Given the description of an element on the screen output the (x, y) to click on. 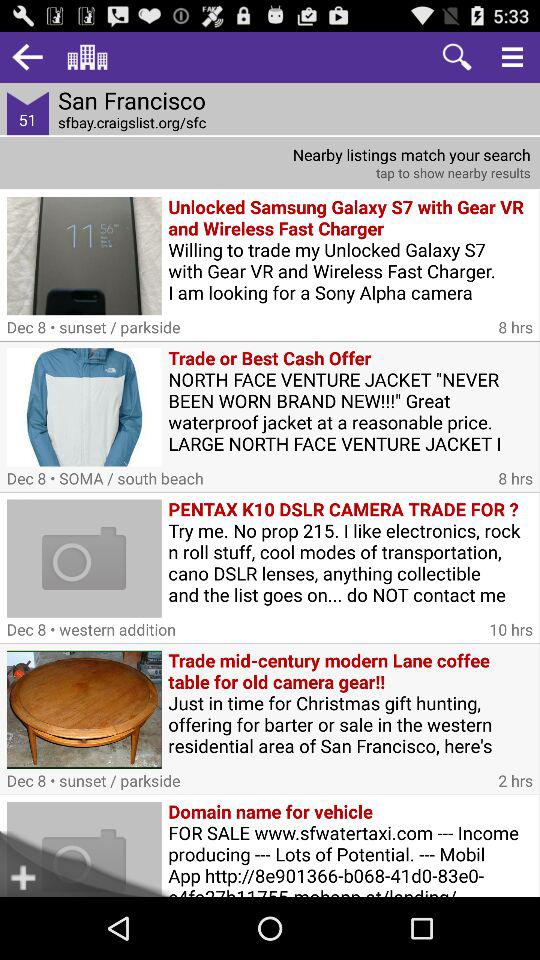
toggle menu (512, 56)
